Given the description of an element on the screen output the (x, y) to click on. 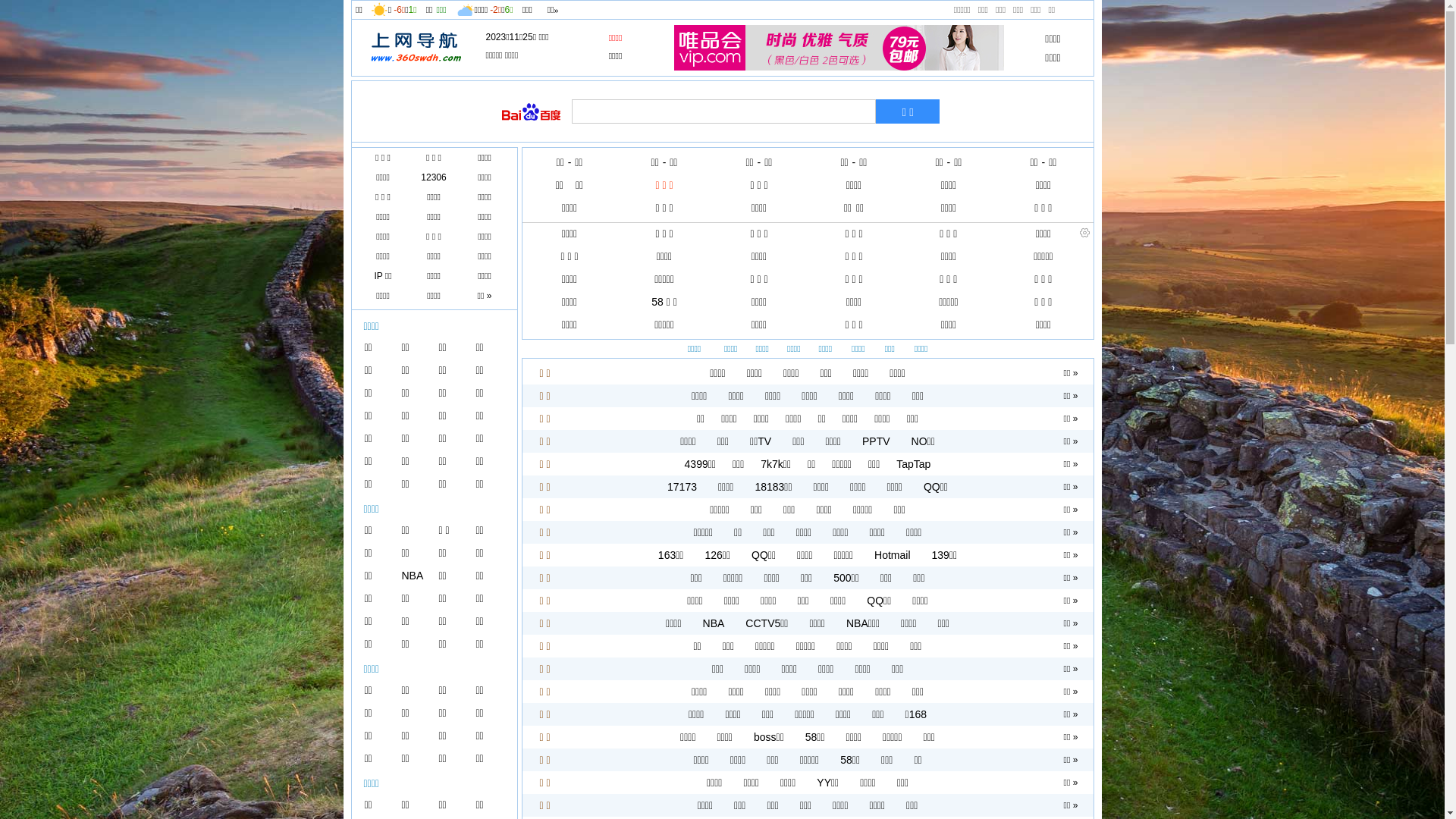
NBA Element type: text (412, 575)
Hotmail Element type: text (891, 554)
NBA Element type: text (713, 623)
17173 Element type: text (681, 486)
PPTV Element type: text (876, 441)
12306 Element type: text (432, 177)
TapTap Element type: text (913, 463)
